Given the description of an element on the screen output the (x, y) to click on. 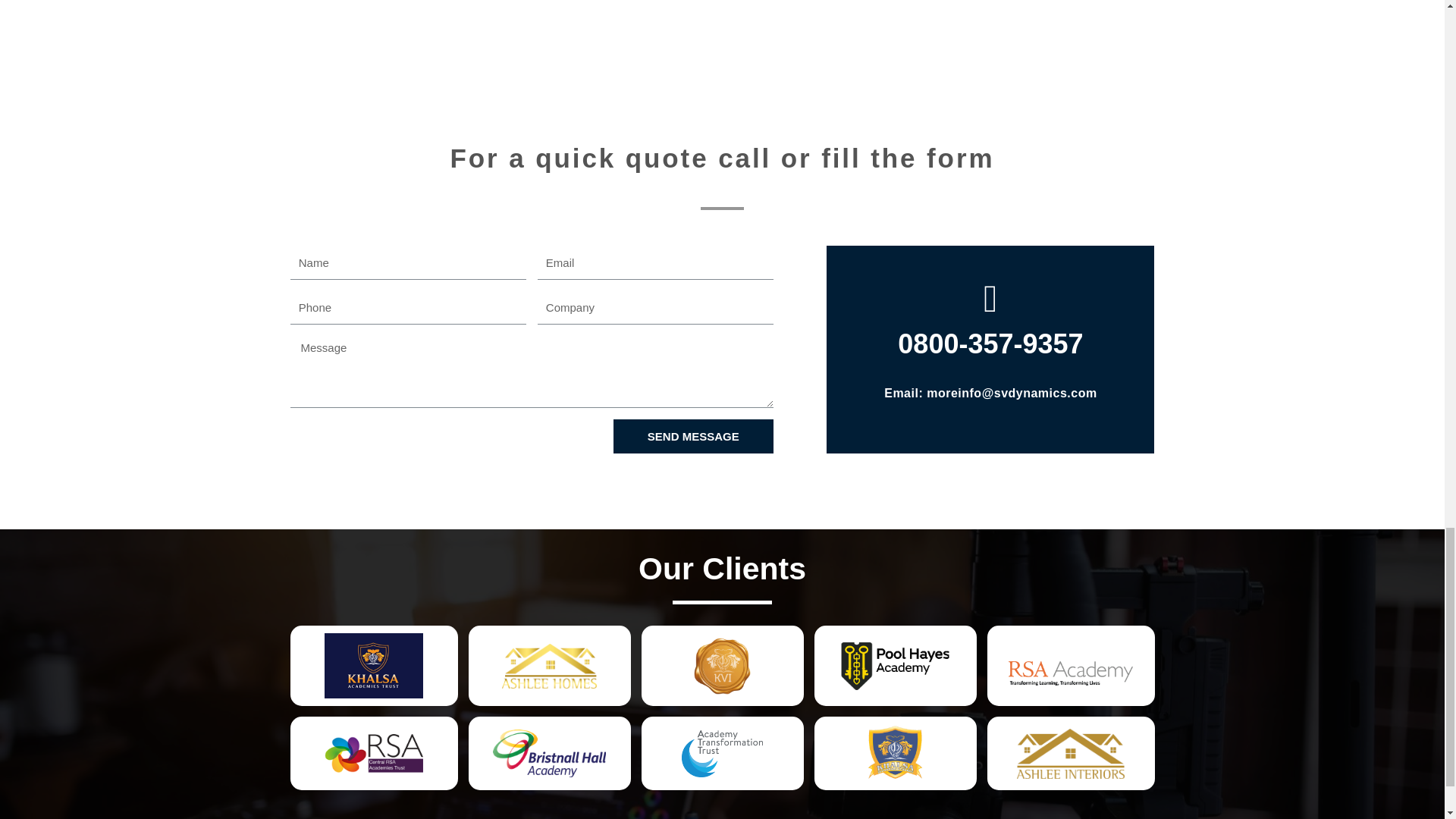
SEND MESSAGE (692, 436)
